Given the description of an element on the screen output the (x, y) to click on. 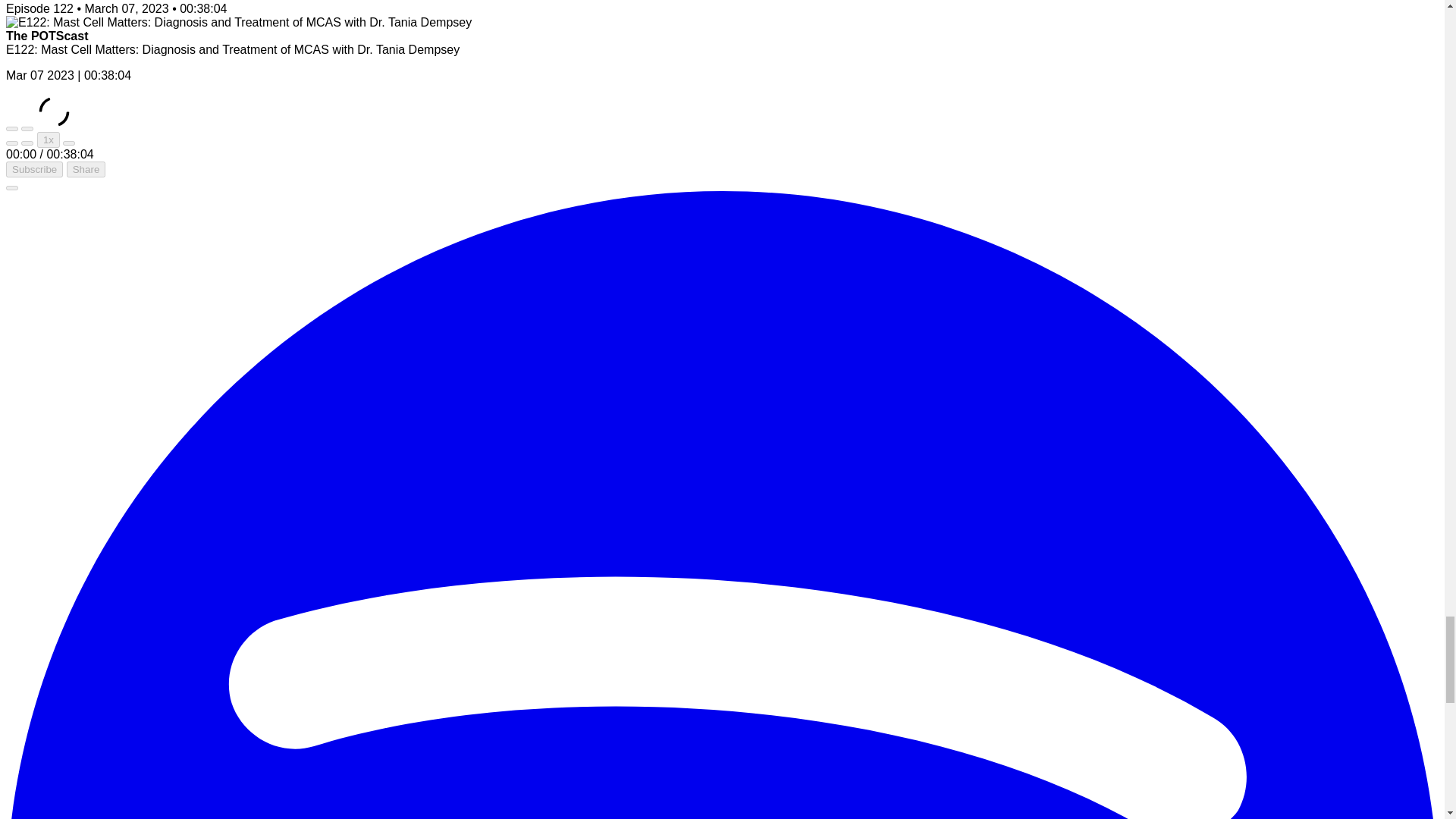
Subscribe (33, 169)
Share (86, 169)
1x (48, 139)
